Given the description of an element on the screen output the (x, y) to click on. 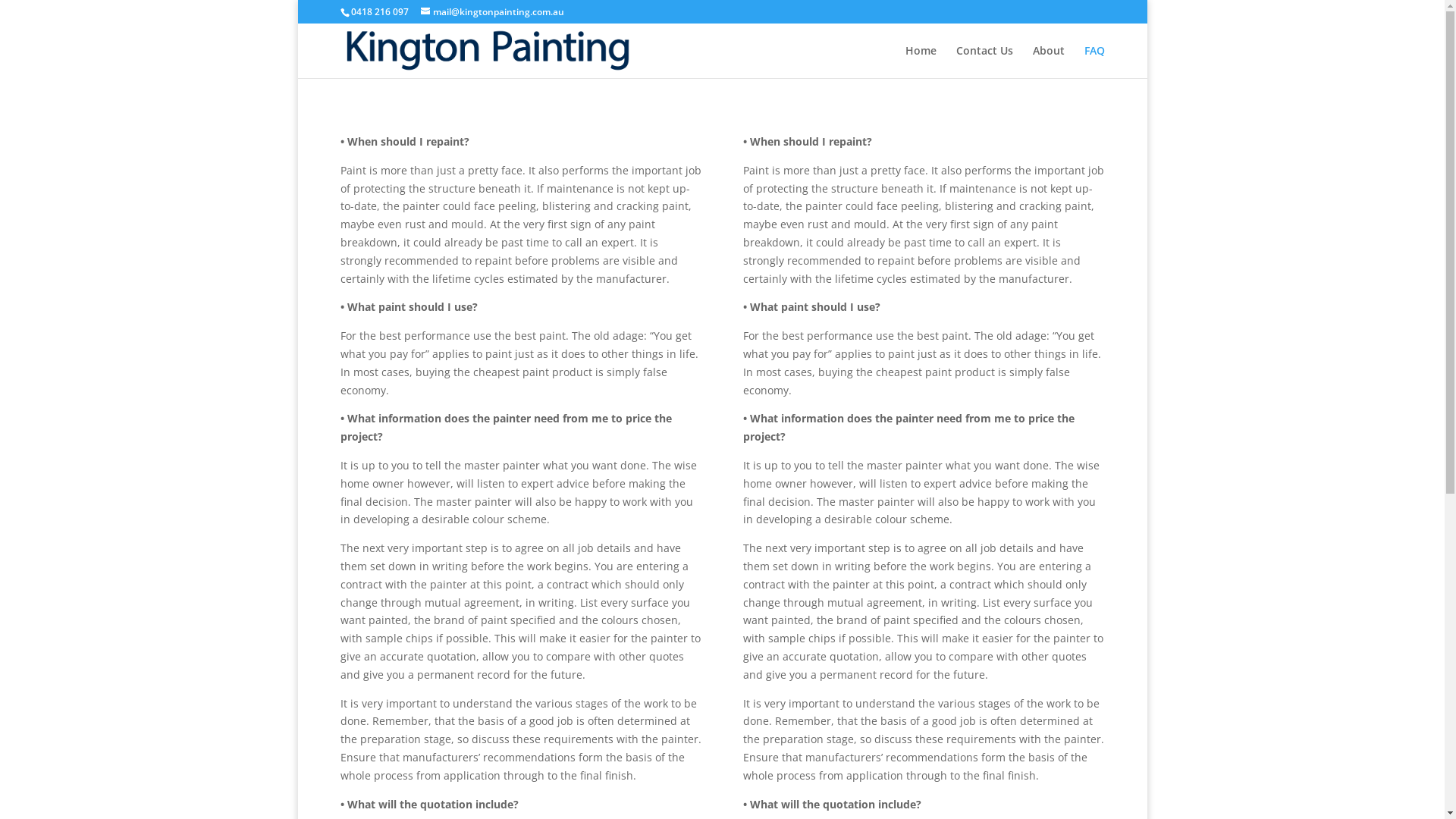
mail@kingtonpainting.com.au Element type: text (491, 11)
FAQ Element type: text (1094, 61)
Contact Us Element type: text (983, 61)
About Element type: text (1048, 61)
Home Element type: text (920, 61)
